Given the description of an element on the screen output the (x, y) to click on. 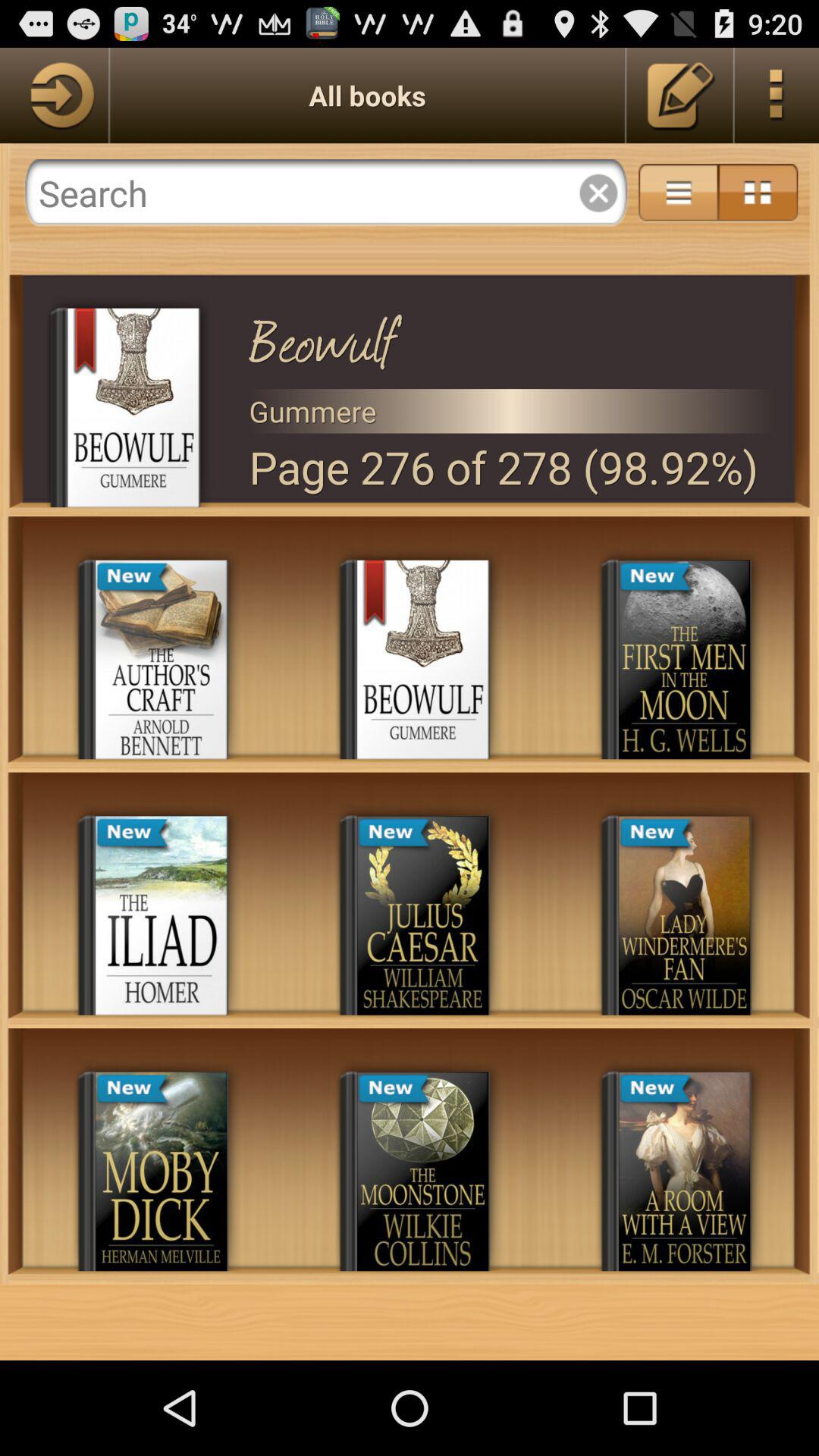
edit book (680, 95)
